Given the description of an element on the screen output the (x, y) to click on. 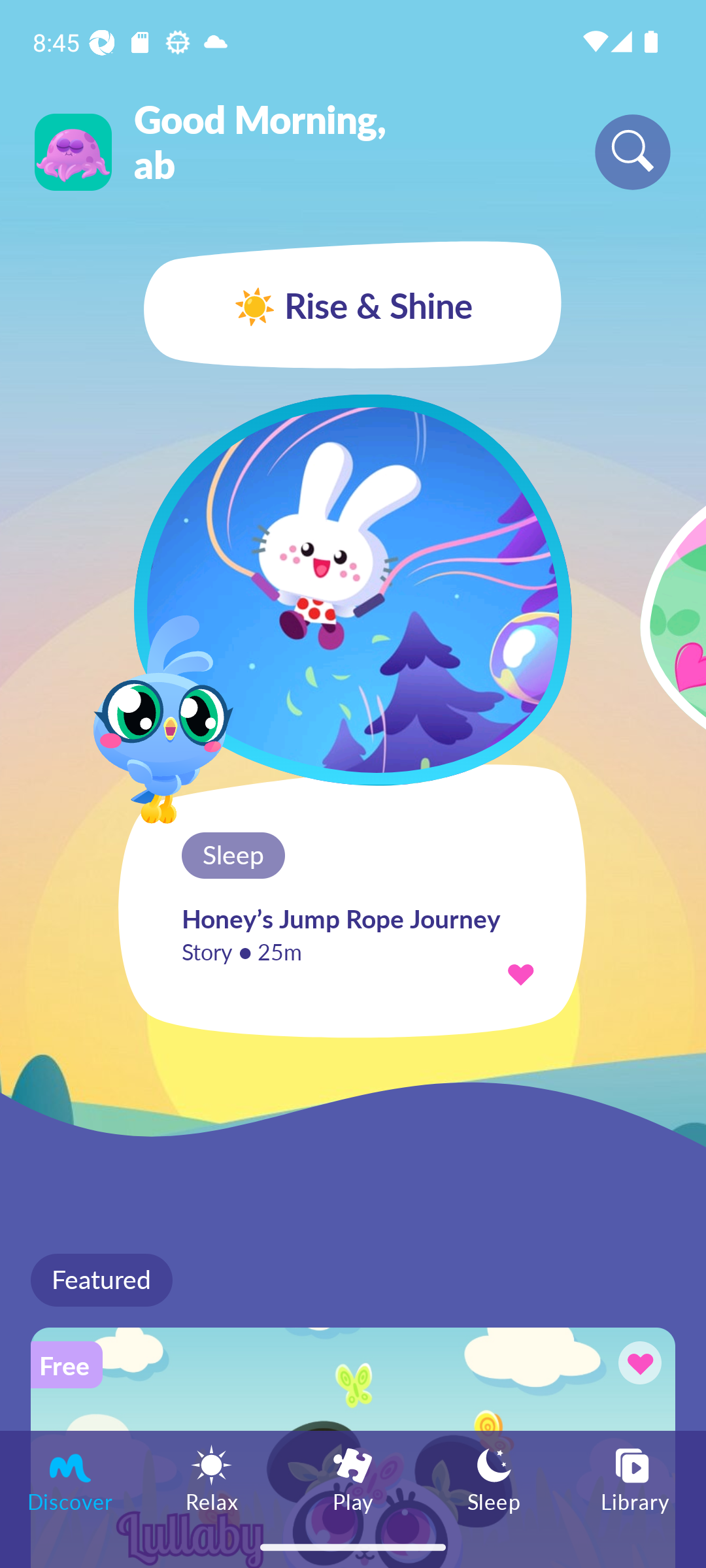
Search (632, 151)
action (520, 973)
Button (636, 1365)
Relax (211, 1478)
Play (352, 1478)
Sleep (493, 1478)
Library (635, 1478)
